Given the description of an element on the screen output the (x, y) to click on. 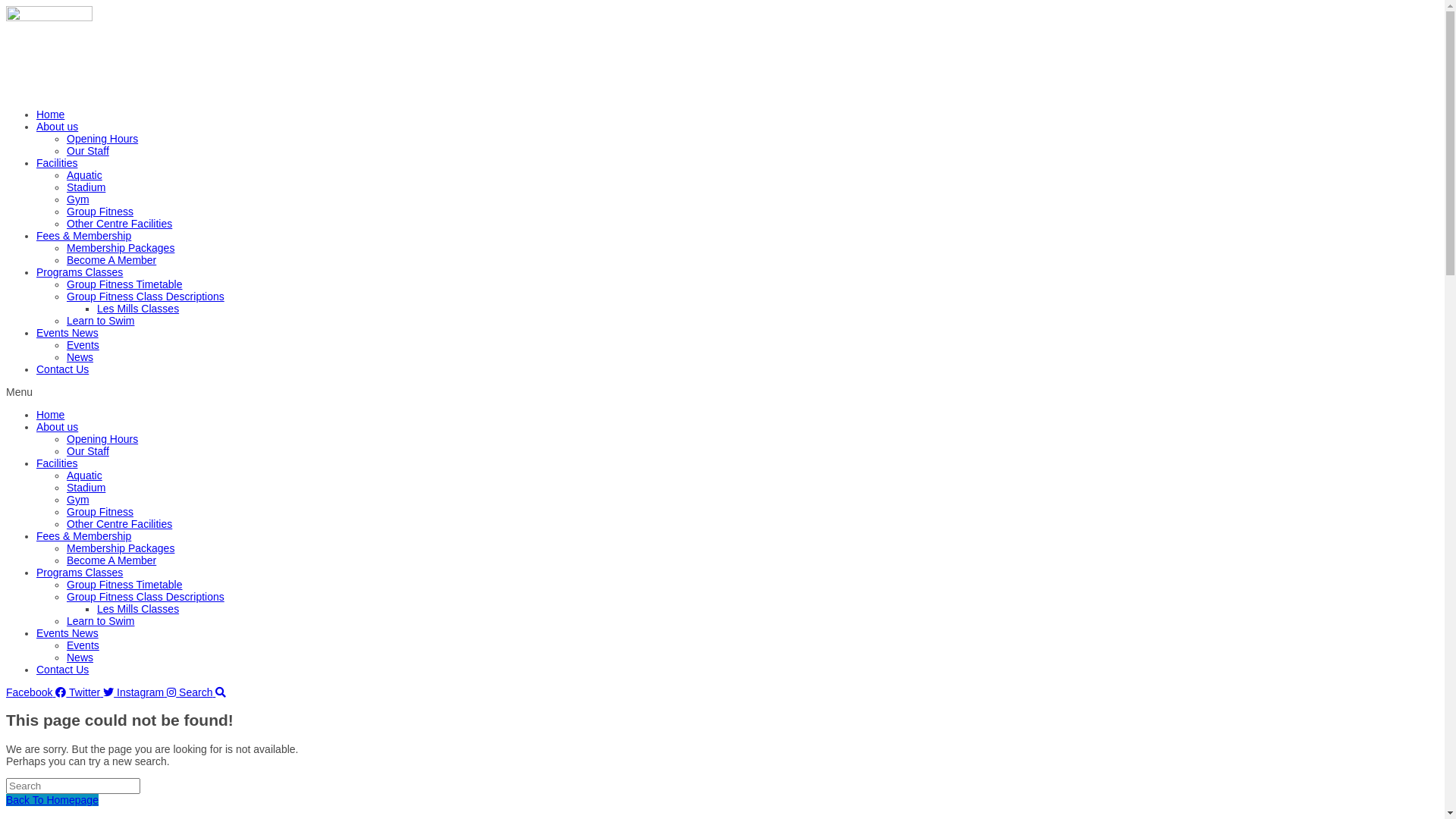
Stadium Element type: text (85, 487)
Other Centre Facilities Element type: text (119, 223)
Opening Hours Element type: text (102, 439)
Contact Us Element type: text (62, 369)
Facilities Element type: text (56, 162)
Group Fitness Class Descriptions Element type: text (145, 596)
Become A Member Element type: text (111, 260)
Group Fitness Class Descriptions Element type: text (145, 296)
Other Centre Facilities Element type: text (119, 523)
Aquatic Element type: text (84, 175)
Back To Homepage Element type: text (52, 799)
Instagram Element type: text (147, 692)
Events News Element type: text (67, 332)
Fees & Membership Element type: text (83, 235)
Learn to Swim Element type: text (100, 621)
Group Fitness Element type: text (99, 211)
Home Element type: text (50, 114)
Facebook Element type: text (37, 692)
Group Fitness Timetable Element type: text (124, 284)
Les Mills Classes Element type: text (137, 608)
Opening Hours Element type: text (102, 138)
Gym Element type: text (77, 199)
News Element type: text (79, 357)
Facilities Element type: text (56, 463)
Group Fitness Timetable Element type: text (124, 584)
Stadium Element type: text (85, 187)
Programs Classes Element type: text (79, 572)
Aquatic Element type: text (84, 475)
Contact Us Element type: text (62, 669)
News Element type: text (79, 657)
Les Mills Classes Element type: text (137, 308)
Membership Packages Element type: text (120, 247)
Fees & Membership Element type: text (83, 536)
Events News Element type: text (67, 633)
Programs Classes Element type: text (79, 272)
Learn to Swim Element type: text (100, 320)
Group Fitness Element type: text (99, 511)
About us Element type: text (57, 126)
Membership Packages Element type: text (120, 548)
Gym Element type: text (77, 499)
Our Staff Element type: text (87, 451)
Twitter Element type: text (92, 692)
Home Element type: text (50, 414)
Our Staff Element type: text (87, 150)
Events Element type: text (82, 645)
Become A Member Element type: text (111, 560)
Events Element type: text (82, 344)
About us Element type: text (57, 426)
Search Element type: text (201, 692)
Skip to content Element type: text (5, 5)
